Given the description of an element on the screen output the (x, y) to click on. 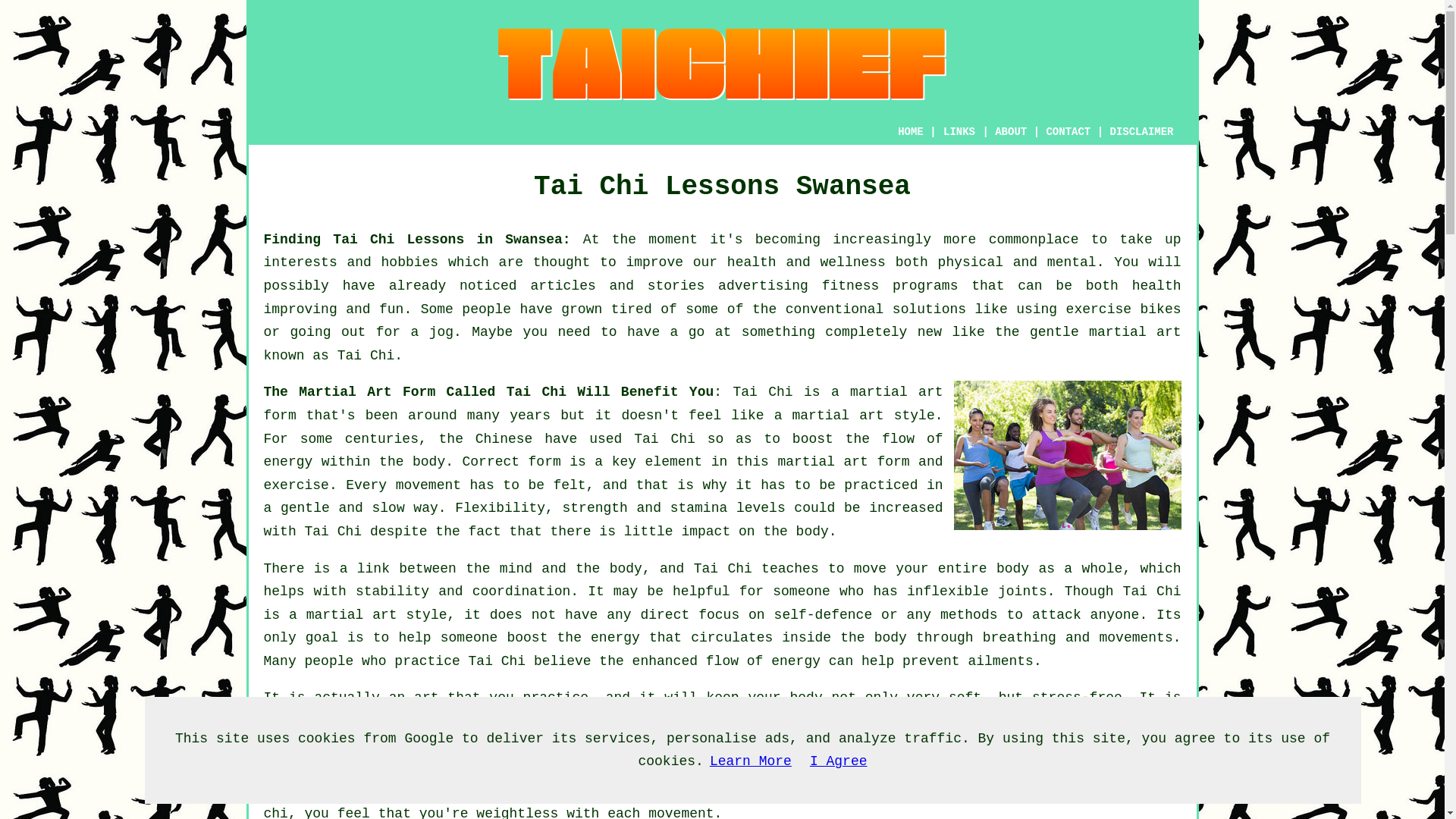
LINKS (958, 131)
HOME (910, 132)
